Given the description of an element on the screen output the (x, y) to click on. 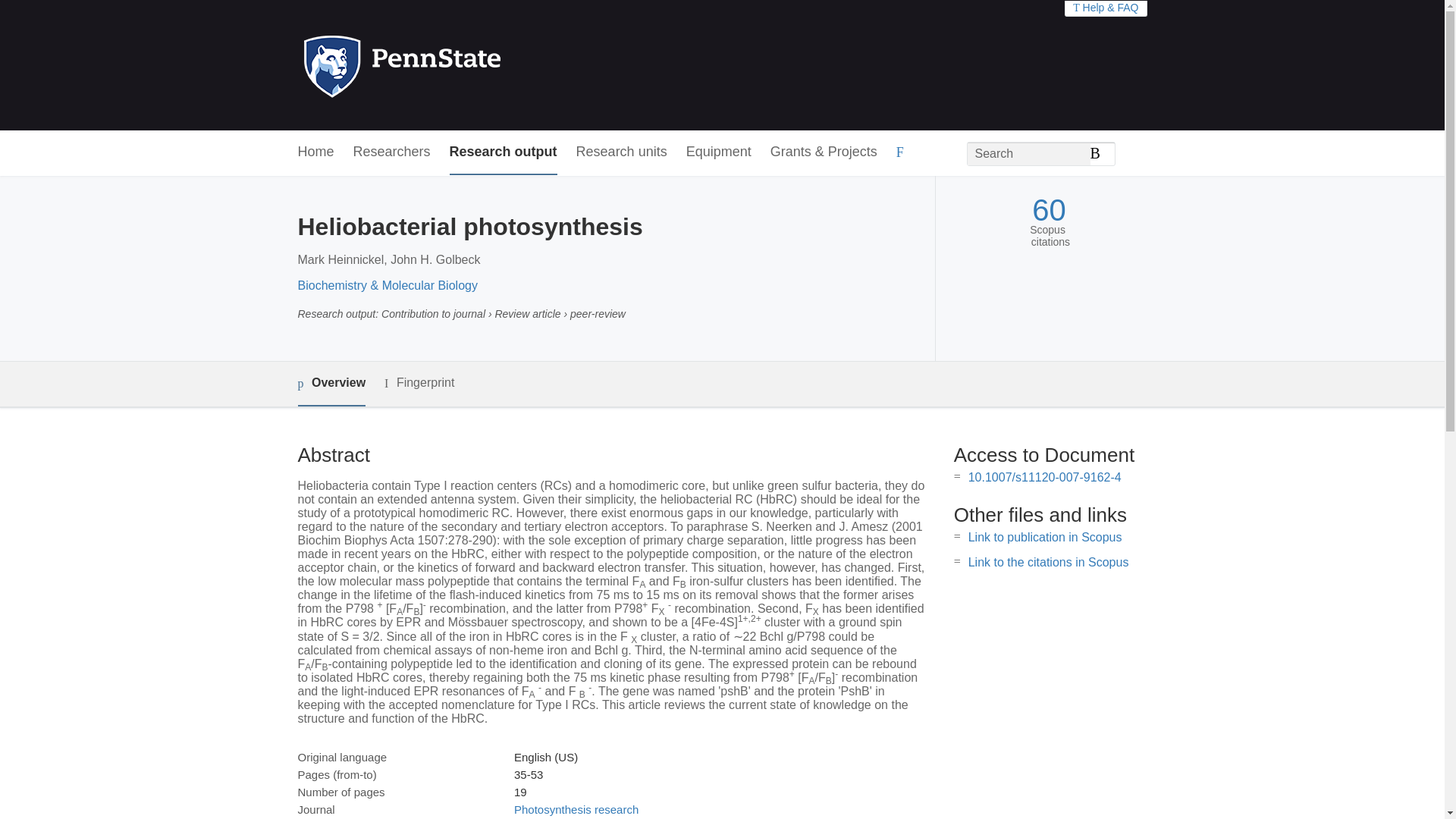
Fingerprint (419, 382)
Photosynthesis research (576, 809)
Link to publication in Scopus (1045, 536)
Research output (503, 152)
Equipment (718, 152)
Research units (621, 152)
Overview (331, 383)
Researchers (391, 152)
Link to the citations in Scopus (1048, 562)
